Given the description of an element on the screen output the (x, y) to click on. 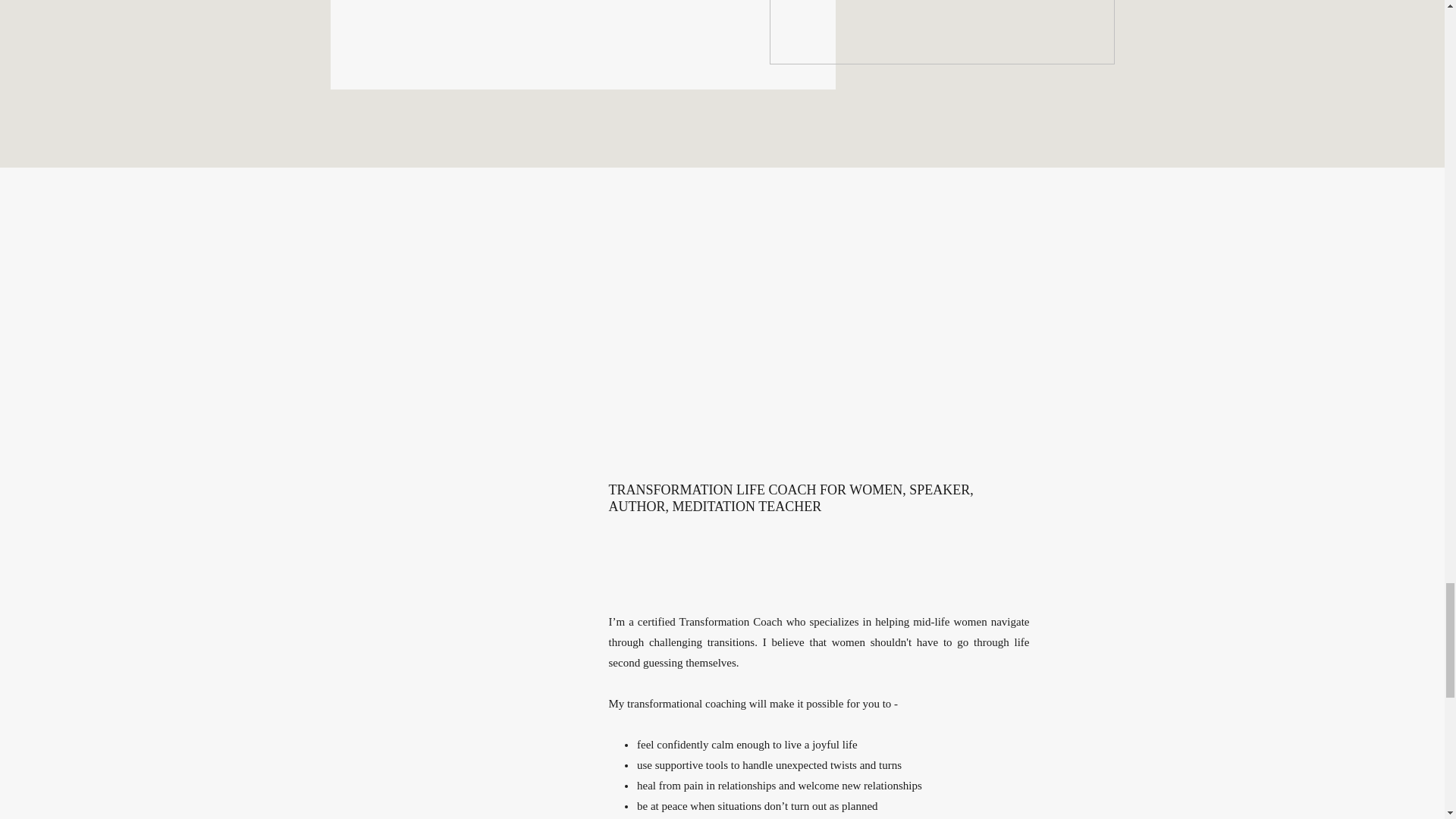
Ali (940, 32)
